Given the description of an element on the screen output the (x, y) to click on. 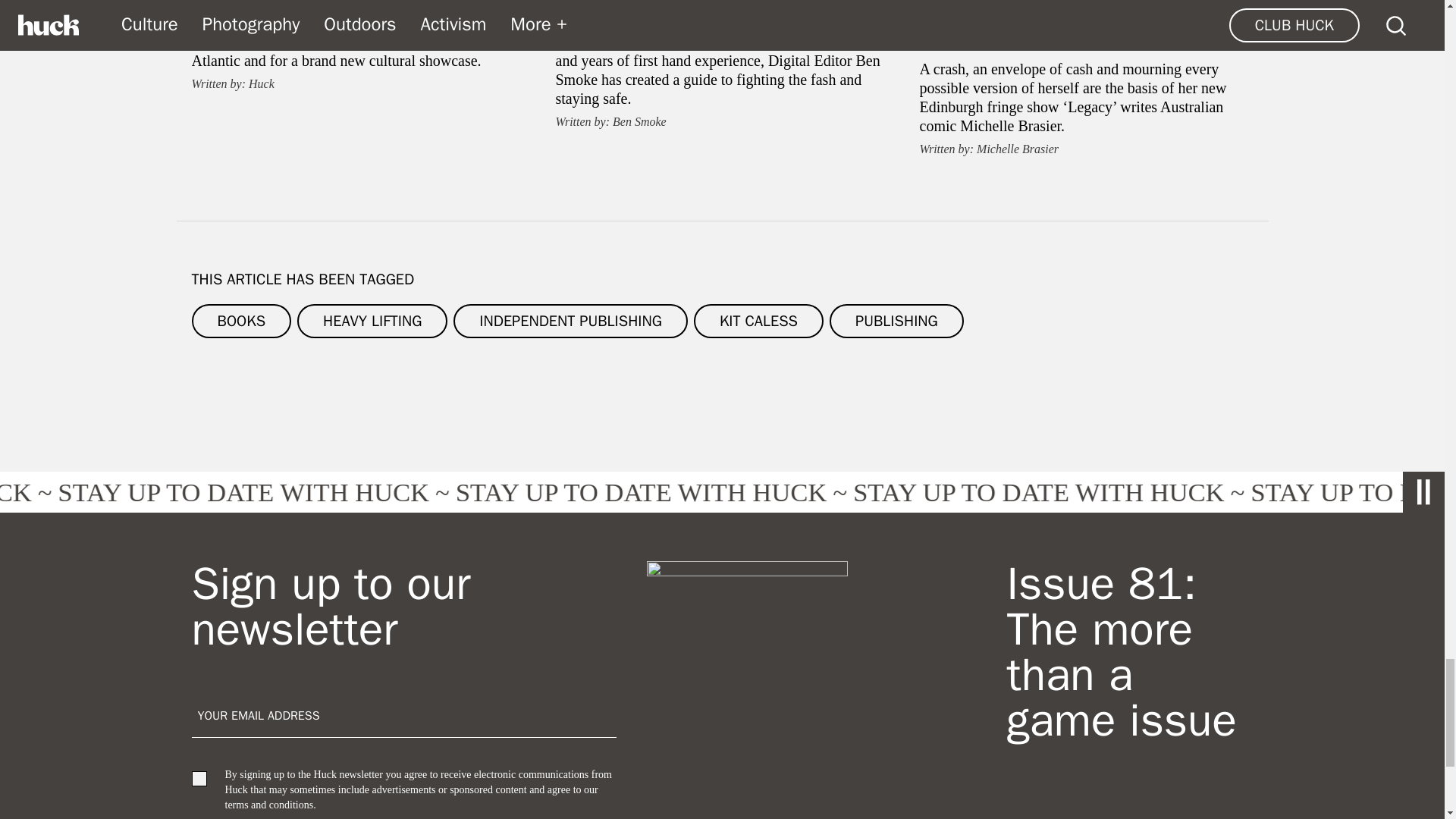
INDEPENDENT PUBLISHING (569, 320)
on (198, 778)
KIT CALESS (759, 320)
HEAVY LIFTING (371, 320)
PUBLISHING (896, 320)
BOOKS (240, 320)
